Given the description of an element on the screen output the (x, y) to click on. 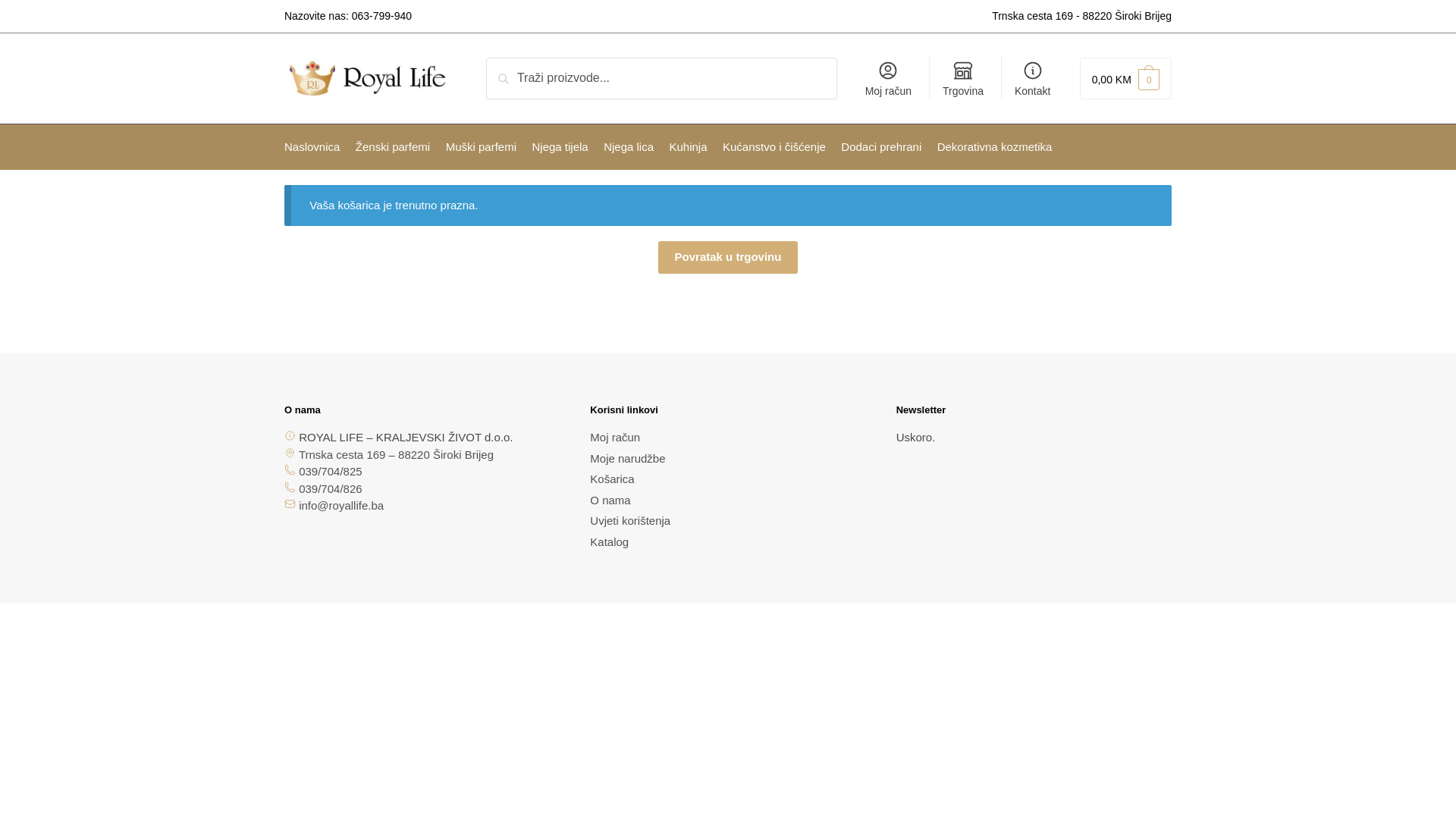
Naslovnica Element type: text (314, 146)
039/704/826 Element type: text (329, 488)
Dekorativna kozmetika Element type: text (994, 146)
Povratak u trgovinu Element type: text (727, 257)
info@royallife.ba Element type: text (340, 504)
O nama Element type: text (609, 499)
Kuhinja Element type: text (687, 146)
Njega lica Element type: text (628, 146)
Kontakt Element type: text (1032, 78)
Trgovina Element type: text (962, 78)
Dodaci prehrani Element type: text (881, 146)
Katalog Element type: text (608, 541)
063-799-940 Element type: text (381, 15)
Njega tijela Element type: text (559, 146)
0,00 KM 0 Element type: text (1125, 78)
039/704/825 Element type: text (329, 470)
